Given the description of an element on the screen output the (x, y) to click on. 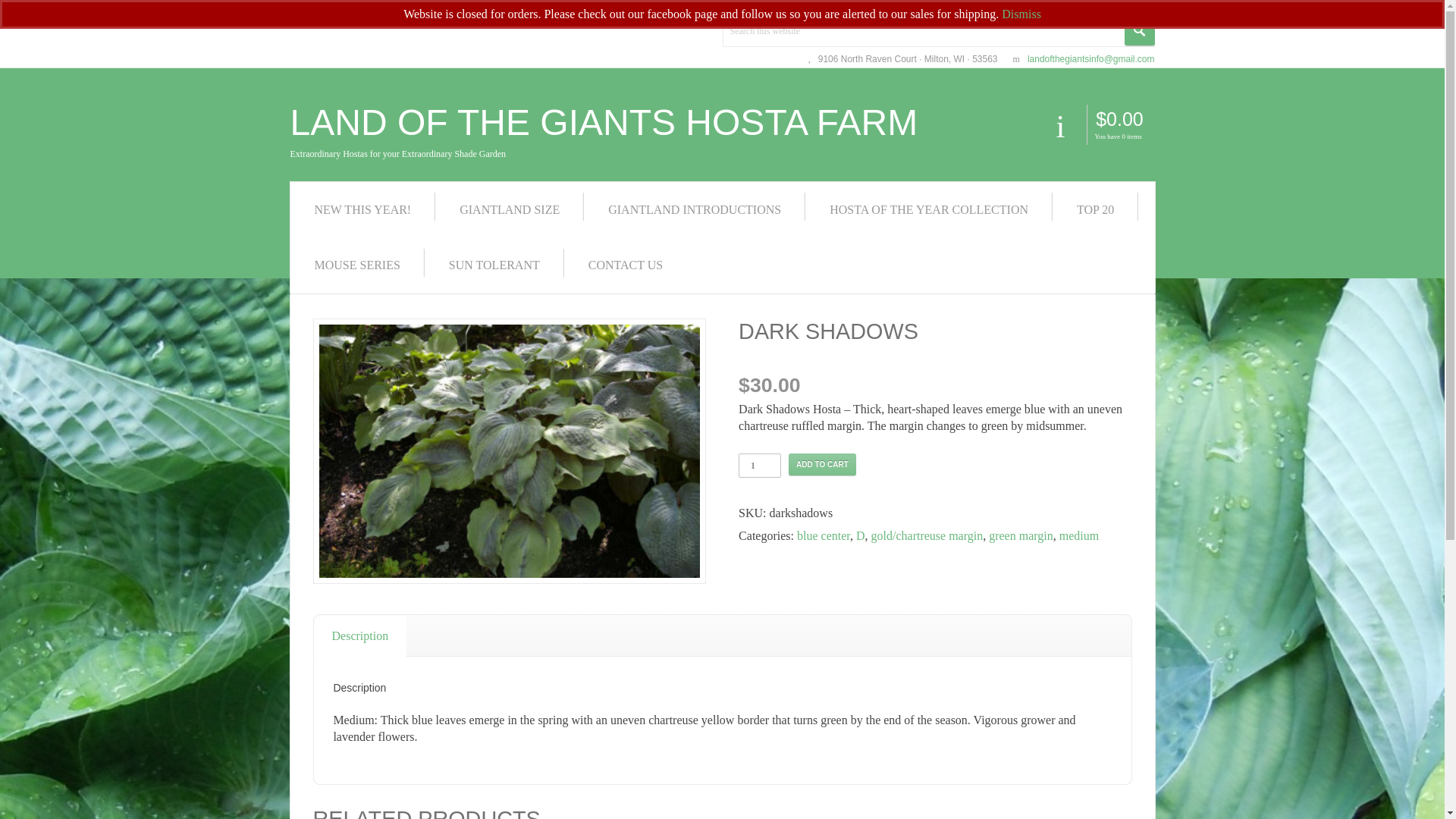
green margin (1020, 535)
blue center (823, 535)
Search (1139, 30)
GIANTLAND INTRODUCTIONS (694, 209)
Search (1139, 30)
CONTACT US (625, 266)
Dismiss (1021, 13)
Description (360, 635)
View your shopping cart (1119, 118)
SUN TOLERANT (494, 266)
